Given the description of an element on the screen output the (x, y) to click on. 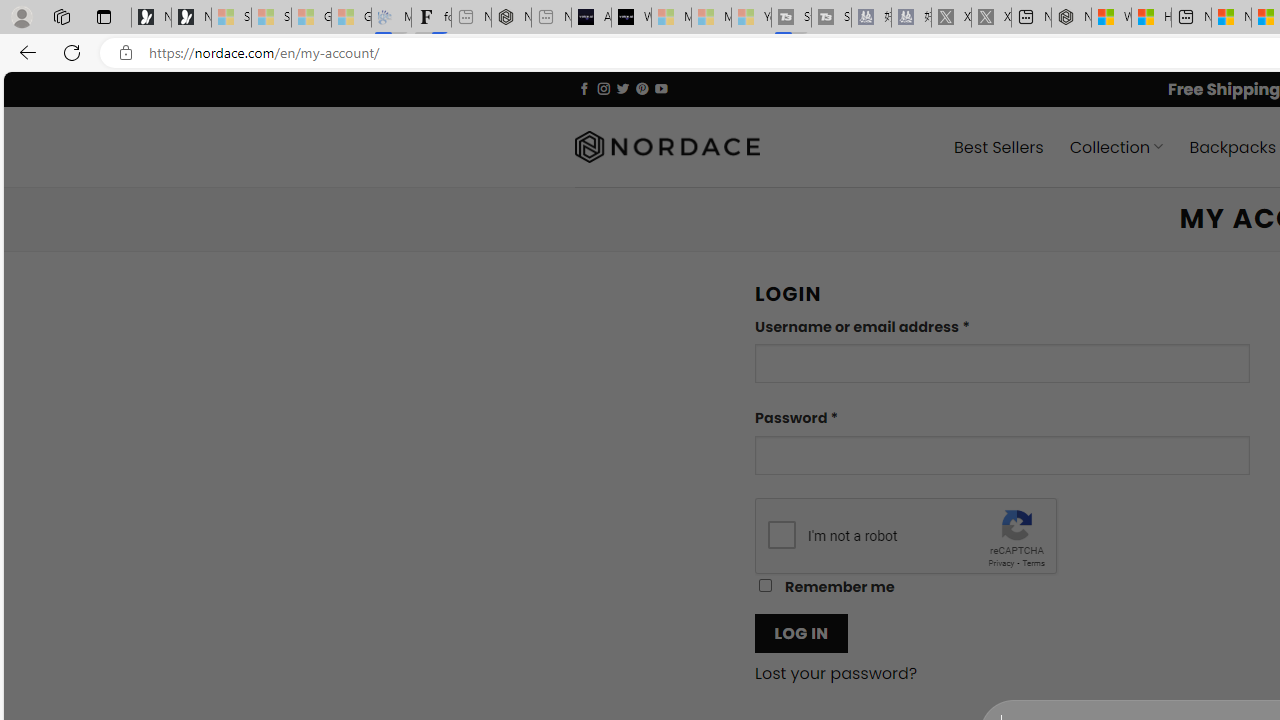
Streaming Coverage | T3 - Sleeping (791, 17)
Wildlife - MSN (1111, 17)
Follow on Instagram (603, 88)
